Given the description of an element on the screen output the (x, y) to click on. 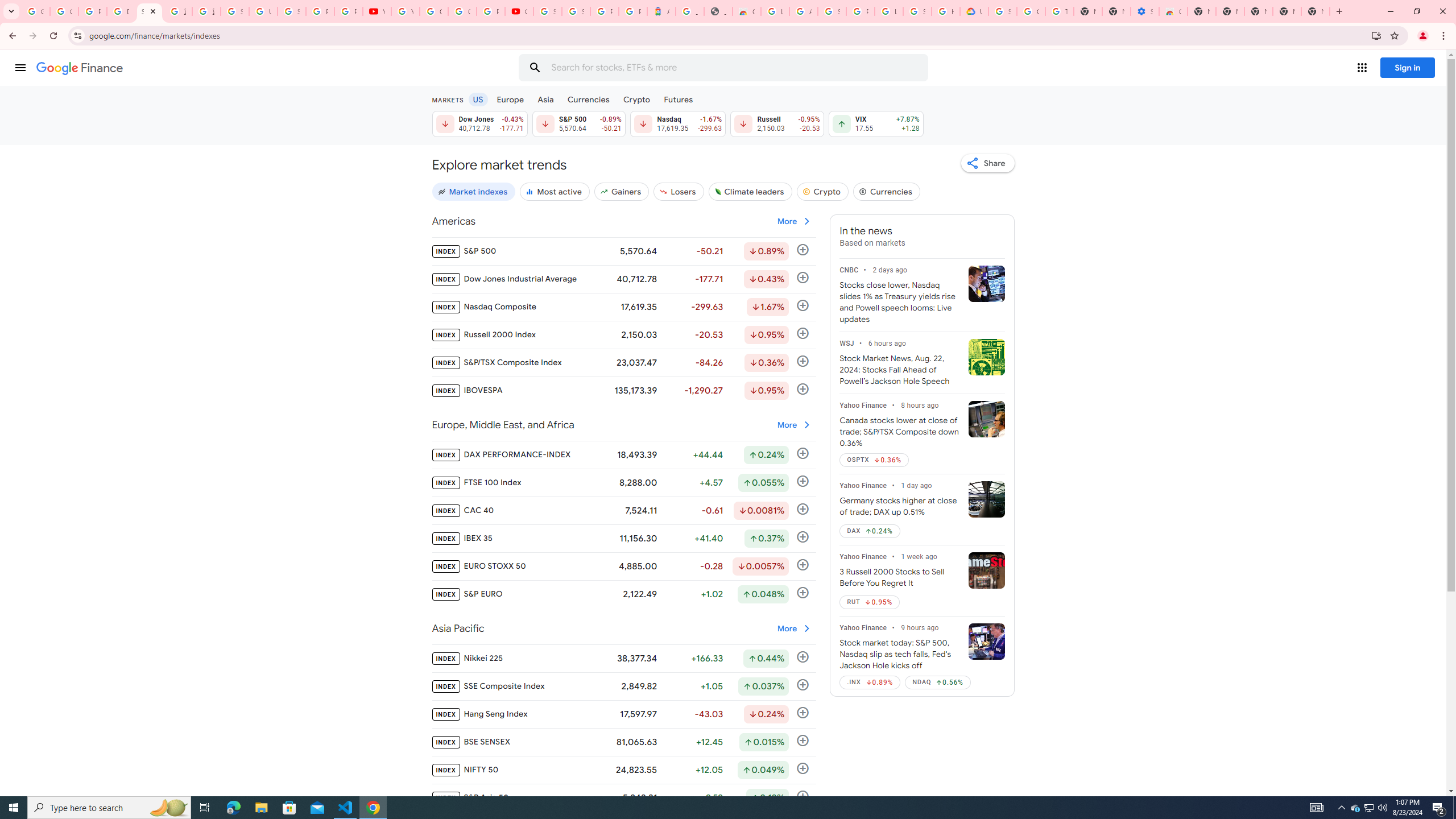
Google Account Help (1030, 11)
Crypto (822, 191)
GLeaf logo (717, 191)
Sign in - Google Accounts (1002, 11)
Most active (554, 191)
Stock Market Indexes - Google Finance (148, 11)
.INX Down by 0.89% (870, 682)
Chrome Web Store - Accessibility extensions (1173, 11)
